Given the description of an element on the screen output the (x, y) to click on. 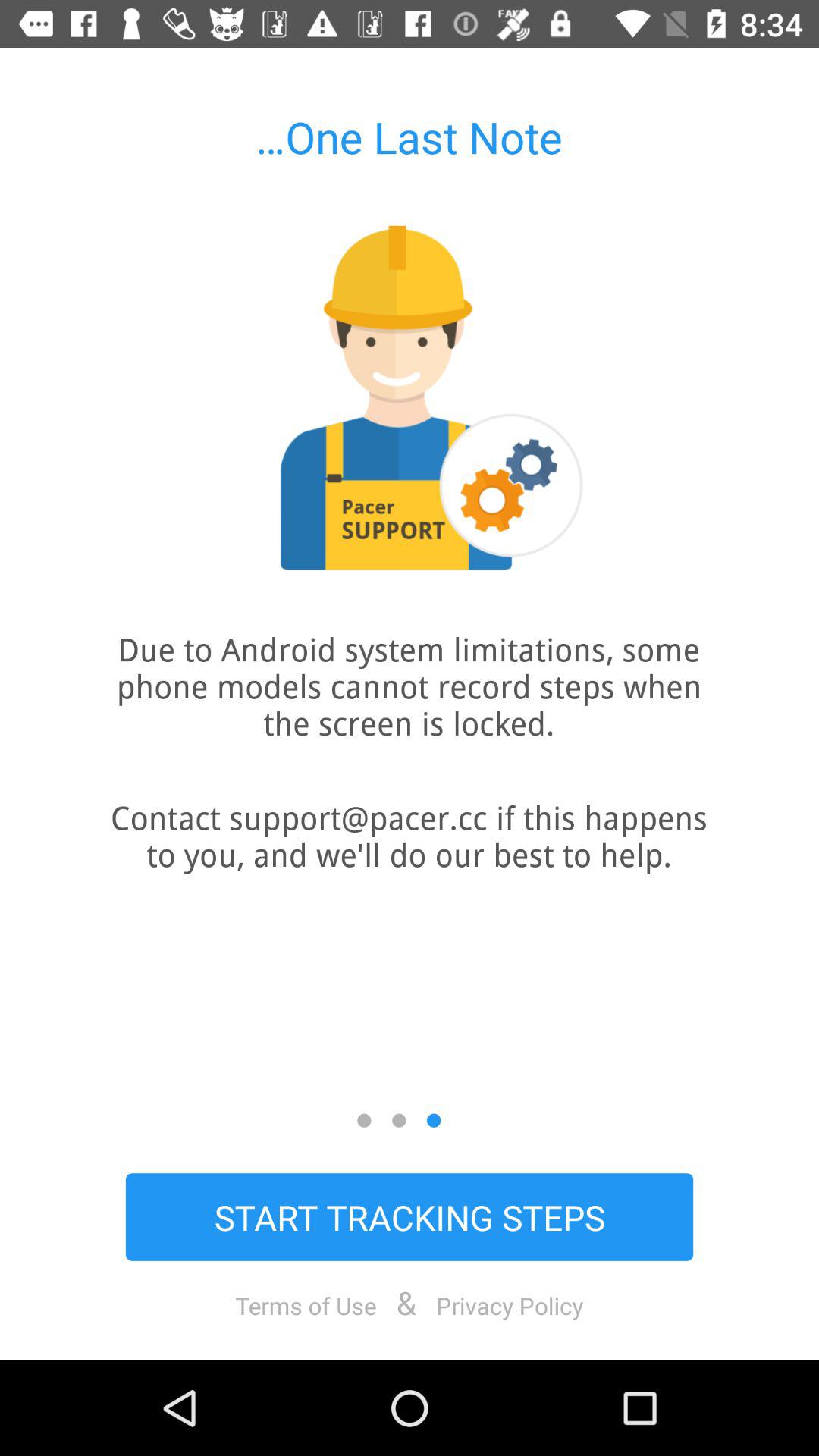
press privacy policy item (509, 1305)
